Given the description of an element on the screen output the (x, y) to click on. 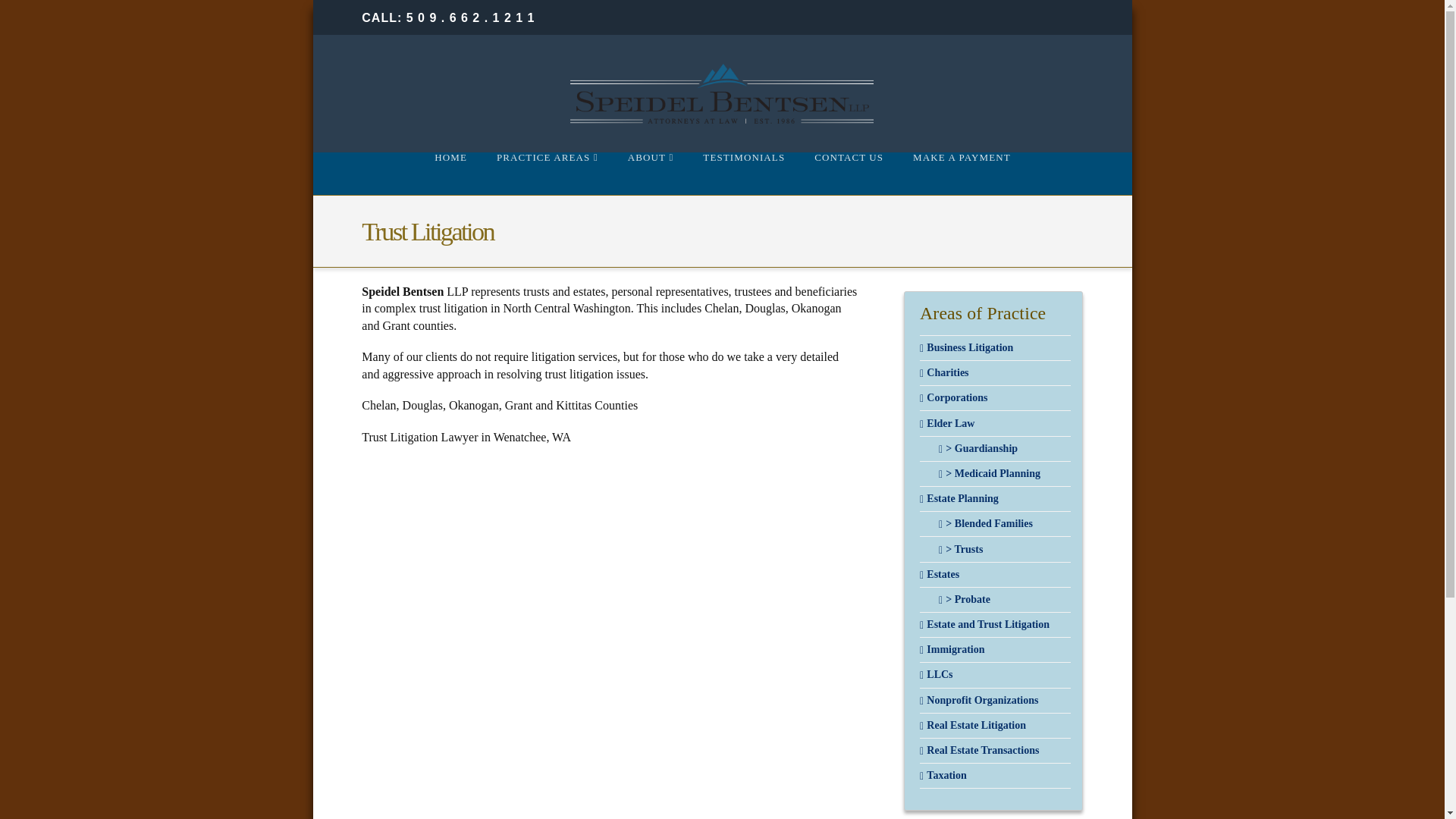
Elder Law (947, 423)
ABOUT (650, 173)
5 0 9 . 6 6 2 . 1 2 1 1 (470, 17)
MAKE A PAYMENT (961, 173)
PRACTICE AREAS (546, 173)
Charities (944, 372)
HOME (450, 173)
Business Litigation (966, 347)
CONTACT US (848, 173)
TESTIMONIALS (743, 173)
Corporations (953, 398)
